Given the description of an element on the screen output the (x, y) to click on. 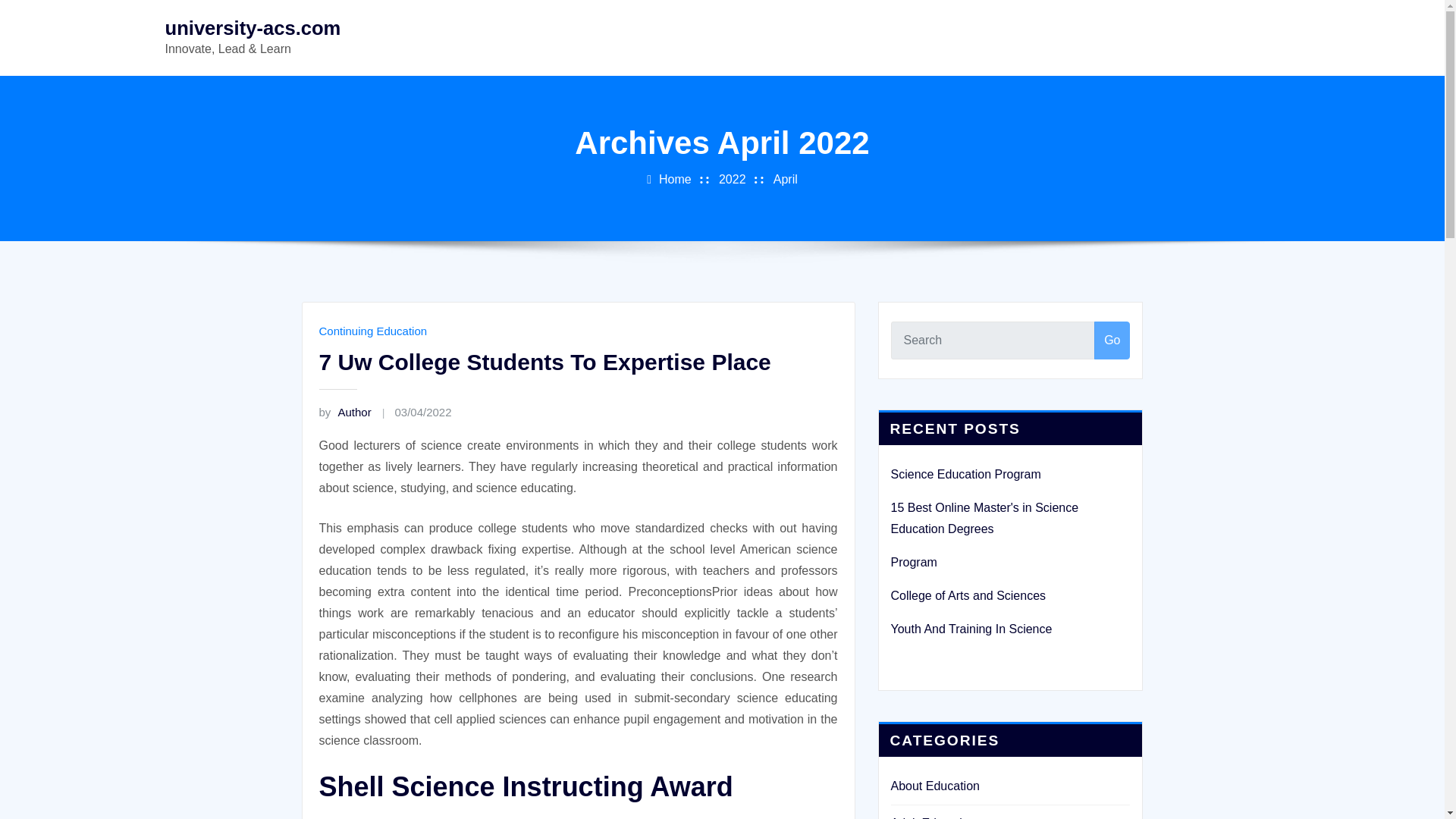
College of Arts and Sciences (967, 594)
7 Uw College Students To Expertise Place (544, 361)
About Education (933, 785)
Adult Education (932, 817)
Home (675, 178)
Continuing Education (372, 330)
Science Education Program (965, 473)
Program (912, 562)
Go (1111, 340)
15 Best Online Master's in Science Education Degrees (983, 518)
April (785, 178)
by Author (344, 411)
2022 (732, 178)
Youth And Training In Science (970, 628)
university-acs.com (252, 27)
